Given the description of an element on the screen output the (x, y) to click on. 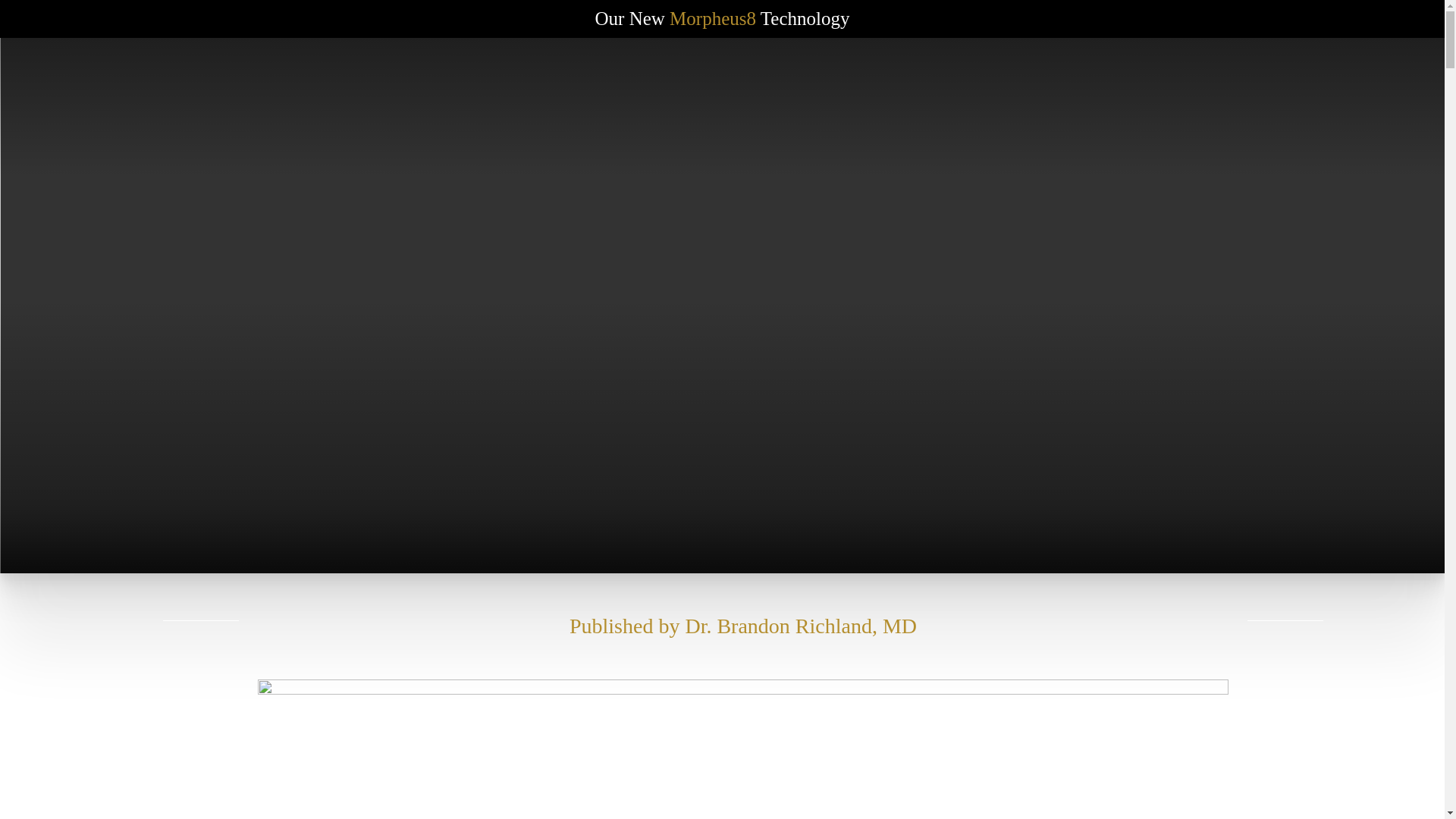
714.241.0646 (1255, 73)
REQUEST CONSULTATION (218, 74)
Our New Morpheus8 Technology (722, 18)
